Given the description of an element on the screen output the (x, y) to click on. 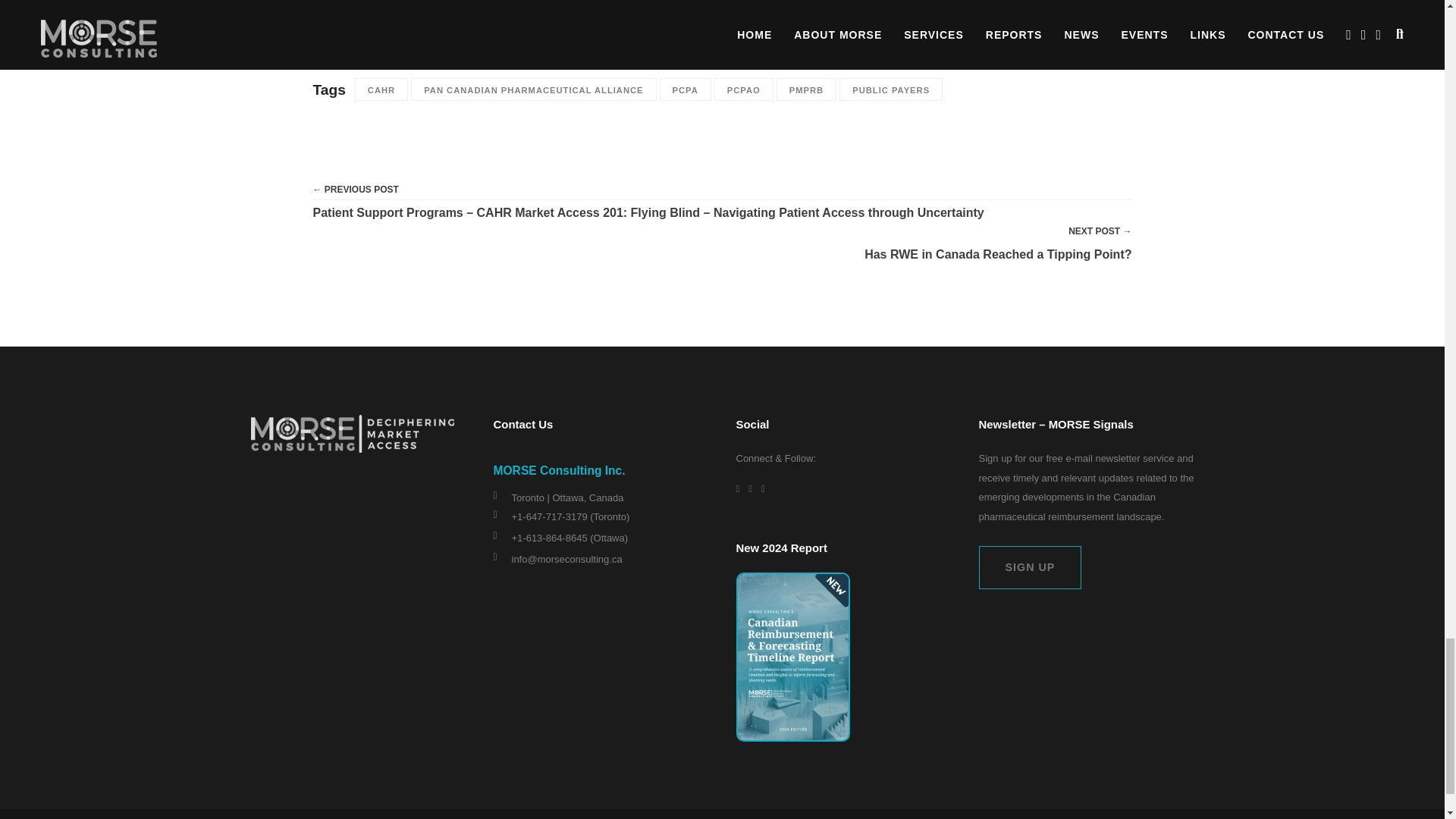
Facebook (385, 35)
Email (416, 35)
Twitter (357, 35)
Linkedin (327, 35)
